Given the description of an element on the screen output the (x, y) to click on. 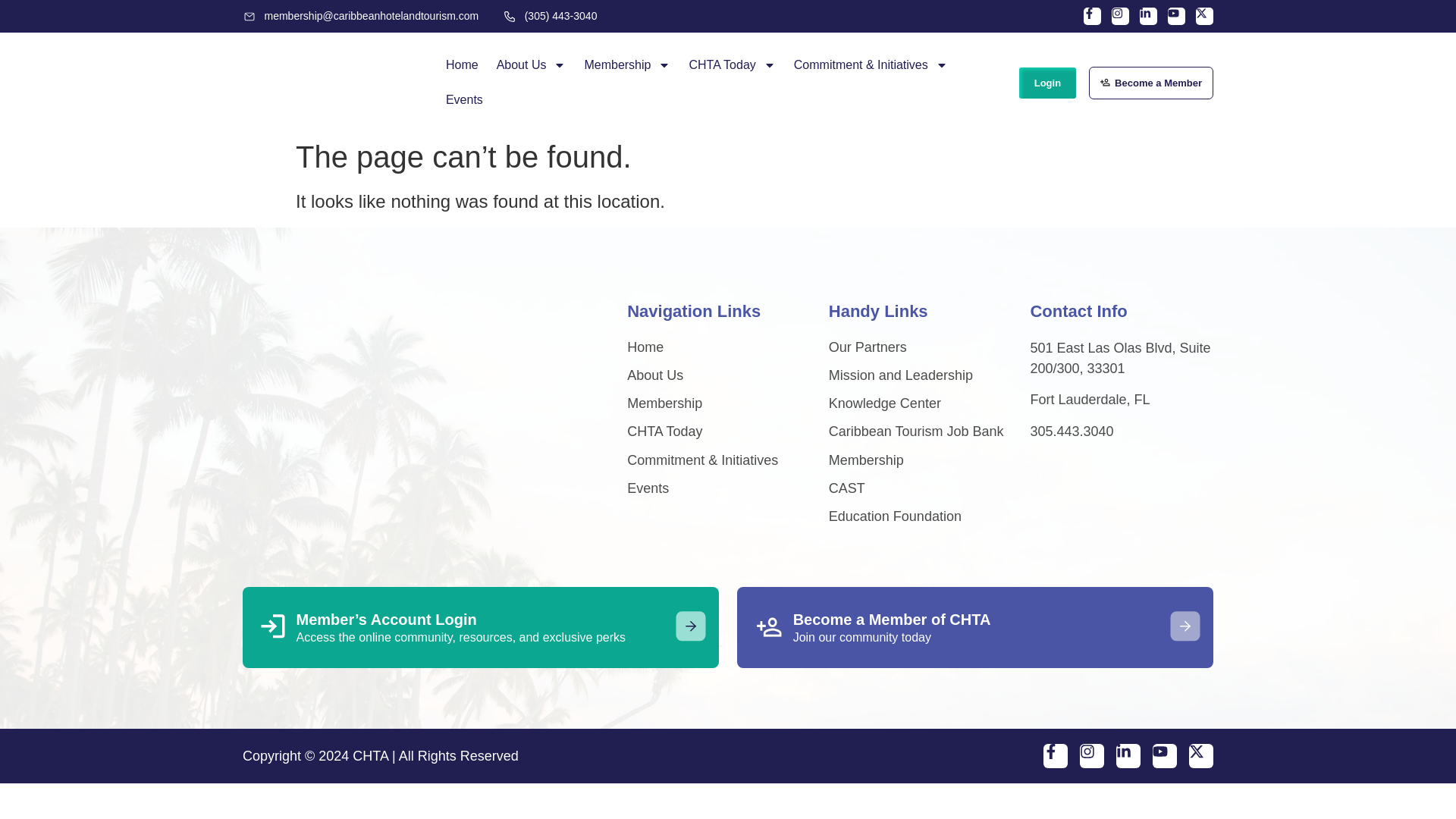
Home (461, 64)
Events (464, 99)
CHTA Today (731, 64)
Membership (627, 64)
About Us (531, 64)
